Given the description of an element on the screen output the (x, y) to click on. 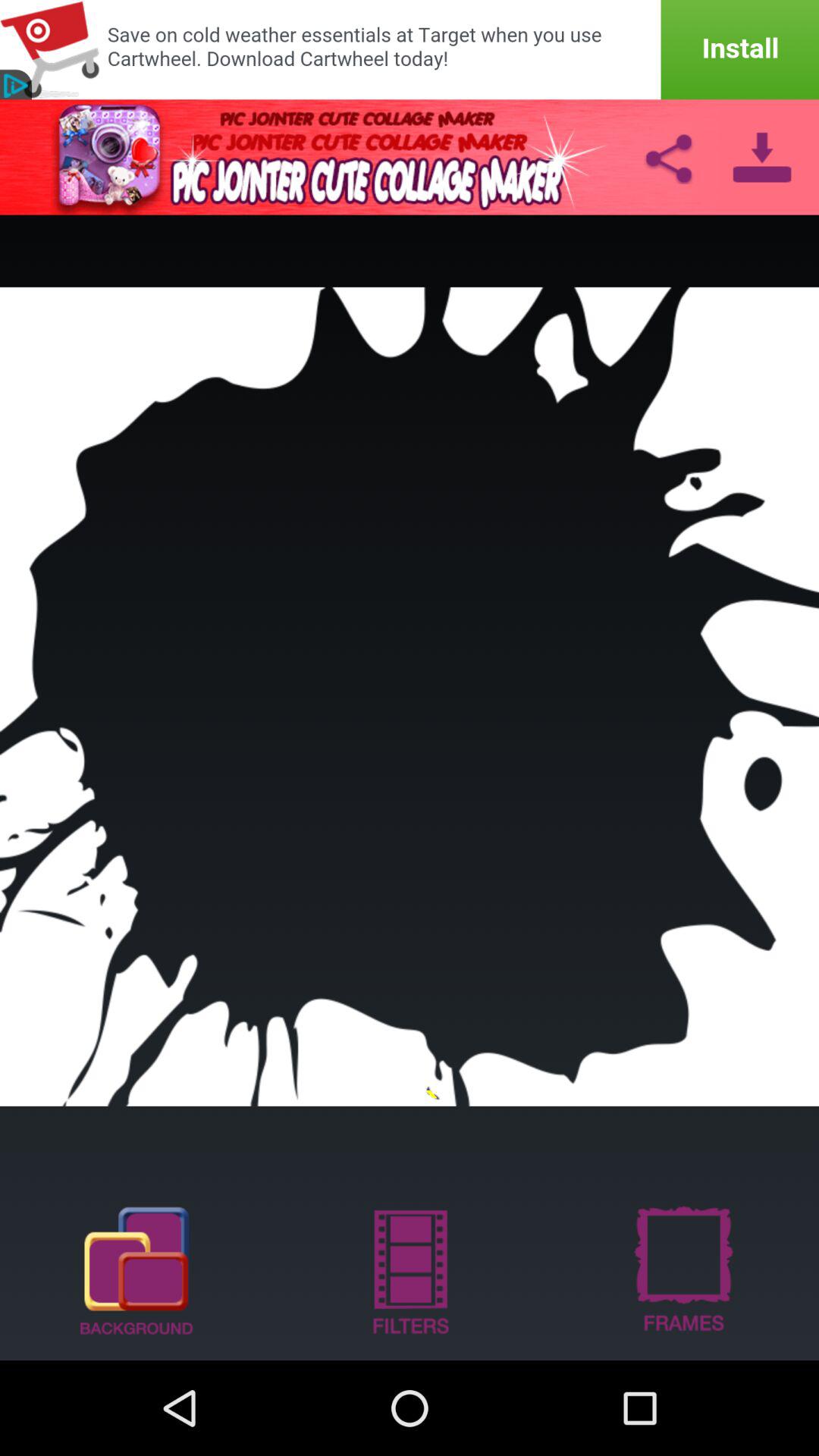
download option (762, 156)
